Given the description of an element on the screen output the (x, y) to click on. 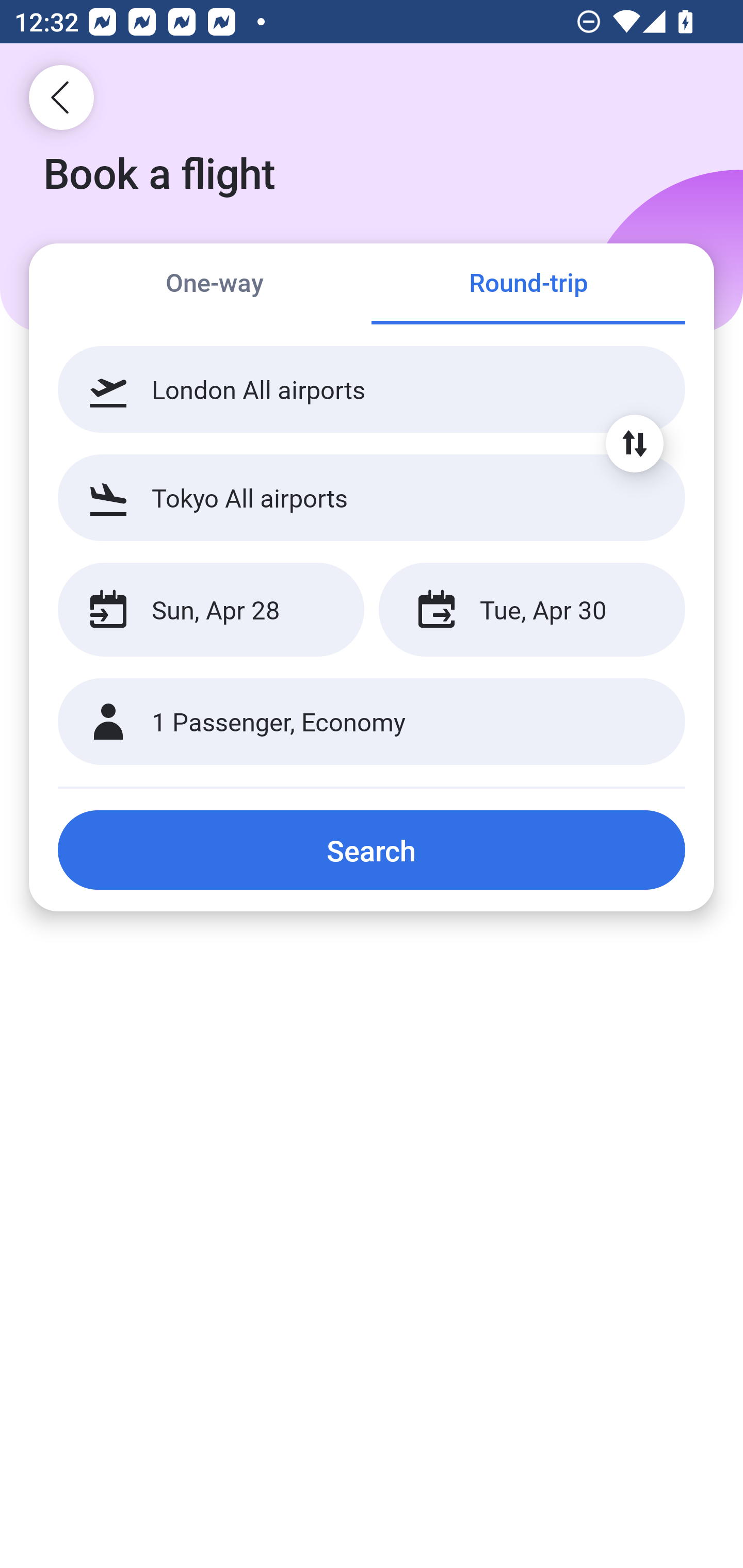
One-way (214, 284)
London All airports (371, 389)
Tokyo All airports (371, 497)
Sun, Apr 28 (210, 609)
Tue, Apr 30 (531, 609)
1 Passenger, Economy (371, 721)
Search (371, 849)
